Given the description of an element on the screen output the (x, y) to click on. 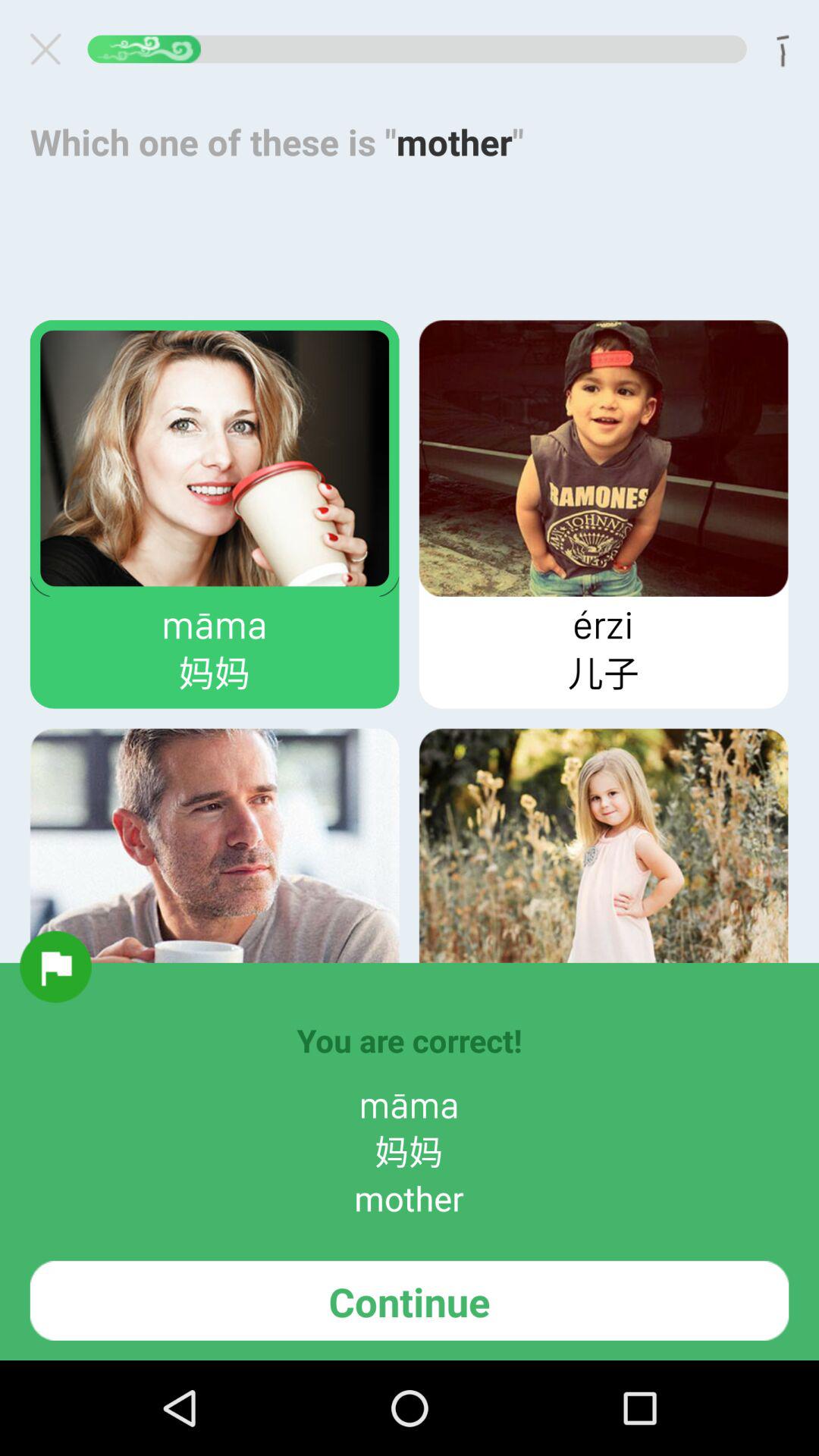
click on second image of second row (603, 866)
go to first option in second row (214, 866)
